Given the description of an element on the screen output the (x, y) to click on. 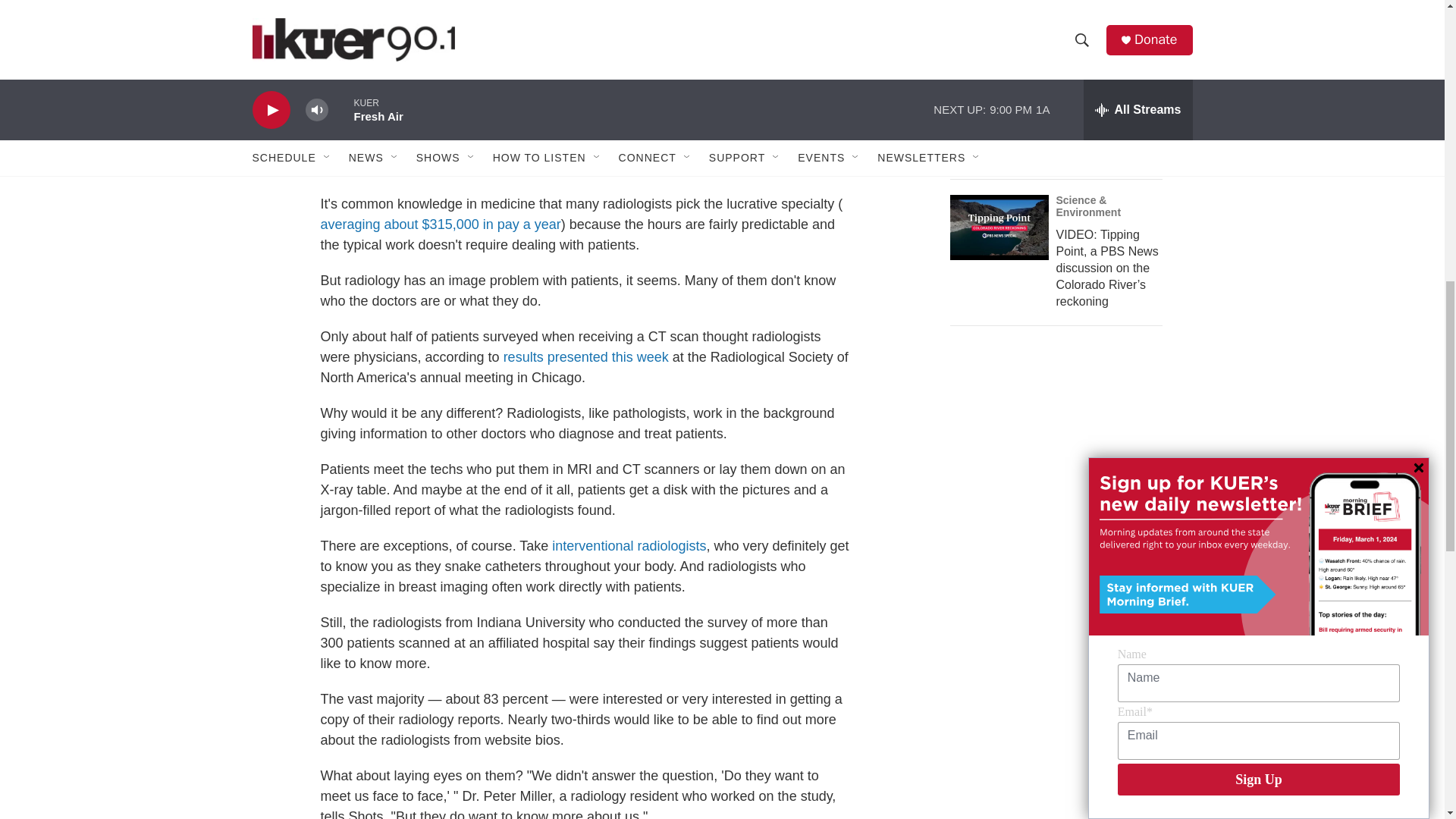
3rd party ad content (1062, 469)
3rd party ad content (1062, 716)
